Given the description of an element on the screen output the (x, y) to click on. 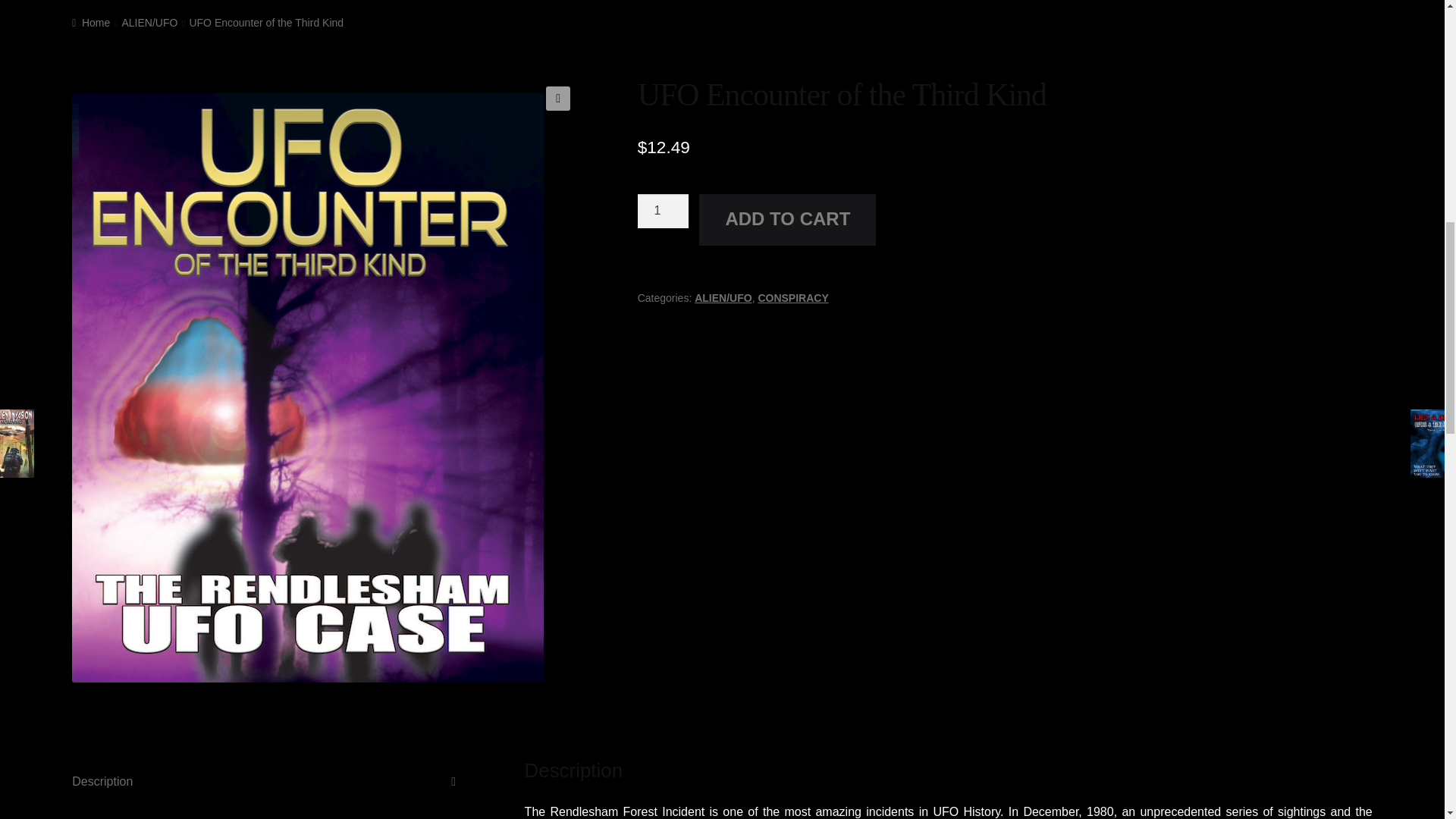
ADD TO CART (787, 219)
CONSPIRACY (792, 297)
Qty (662, 211)
Home (90, 22)
1 (662, 211)
Description (269, 781)
